Given the description of an element on the screen output the (x, y) to click on. 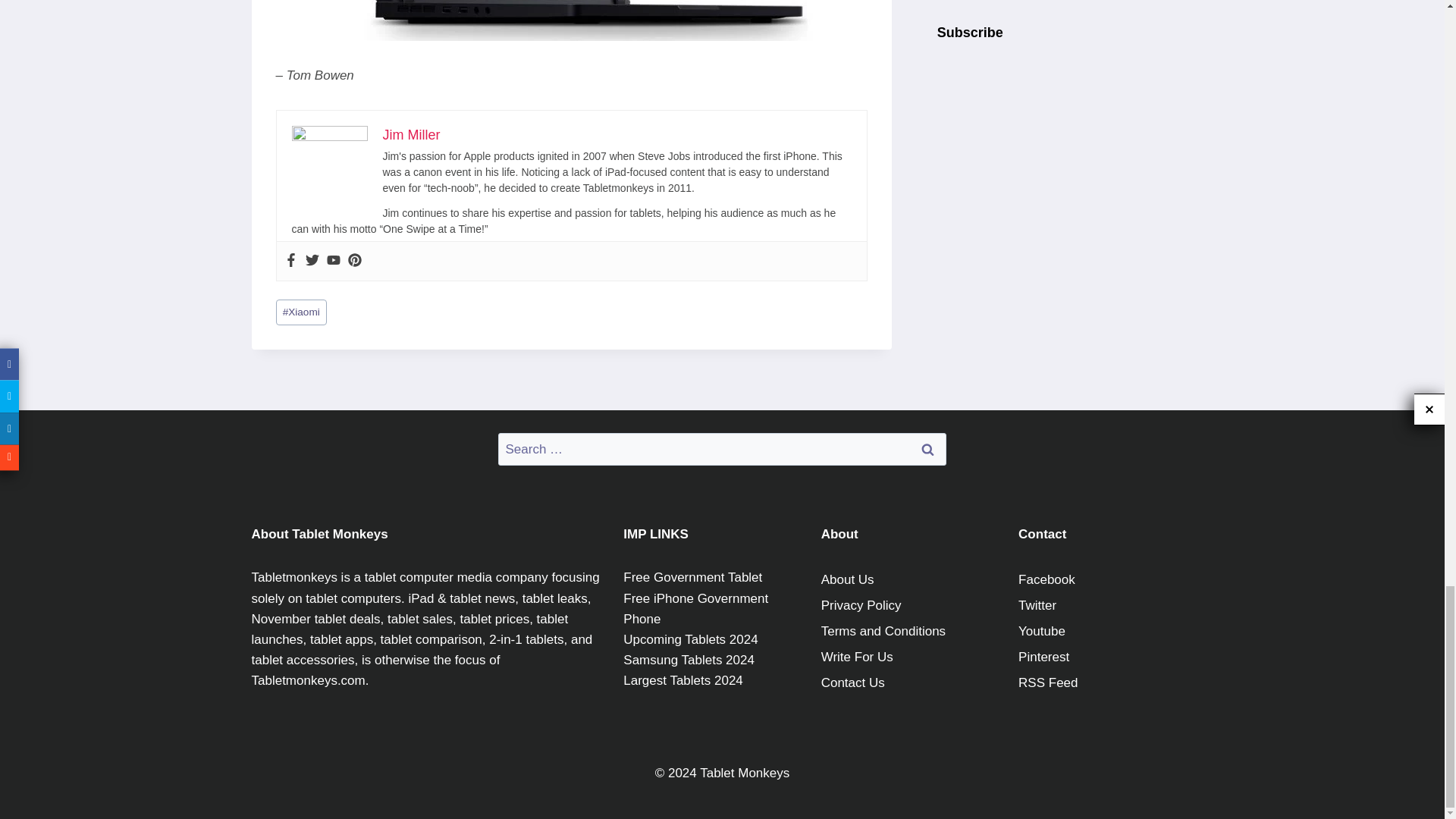
Search (927, 449)
Xiaomi (301, 312)
Jim Miller (410, 134)
Search (927, 449)
